Given the description of an element on the screen output the (x, y) to click on. 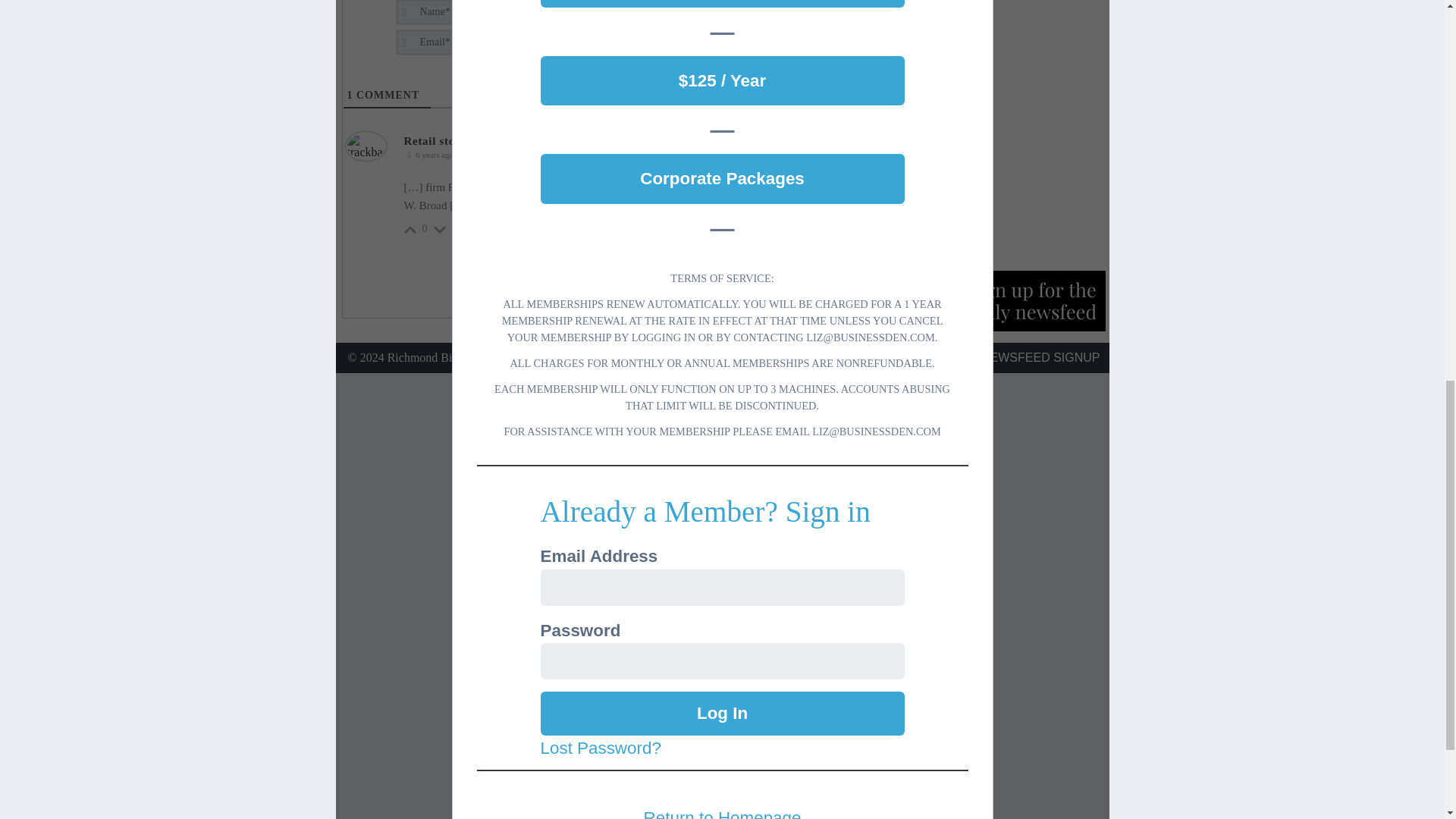
Post Comment (811, 22)
Log In (722, 713)
